Given the description of an element on the screen output the (x, y) to click on. 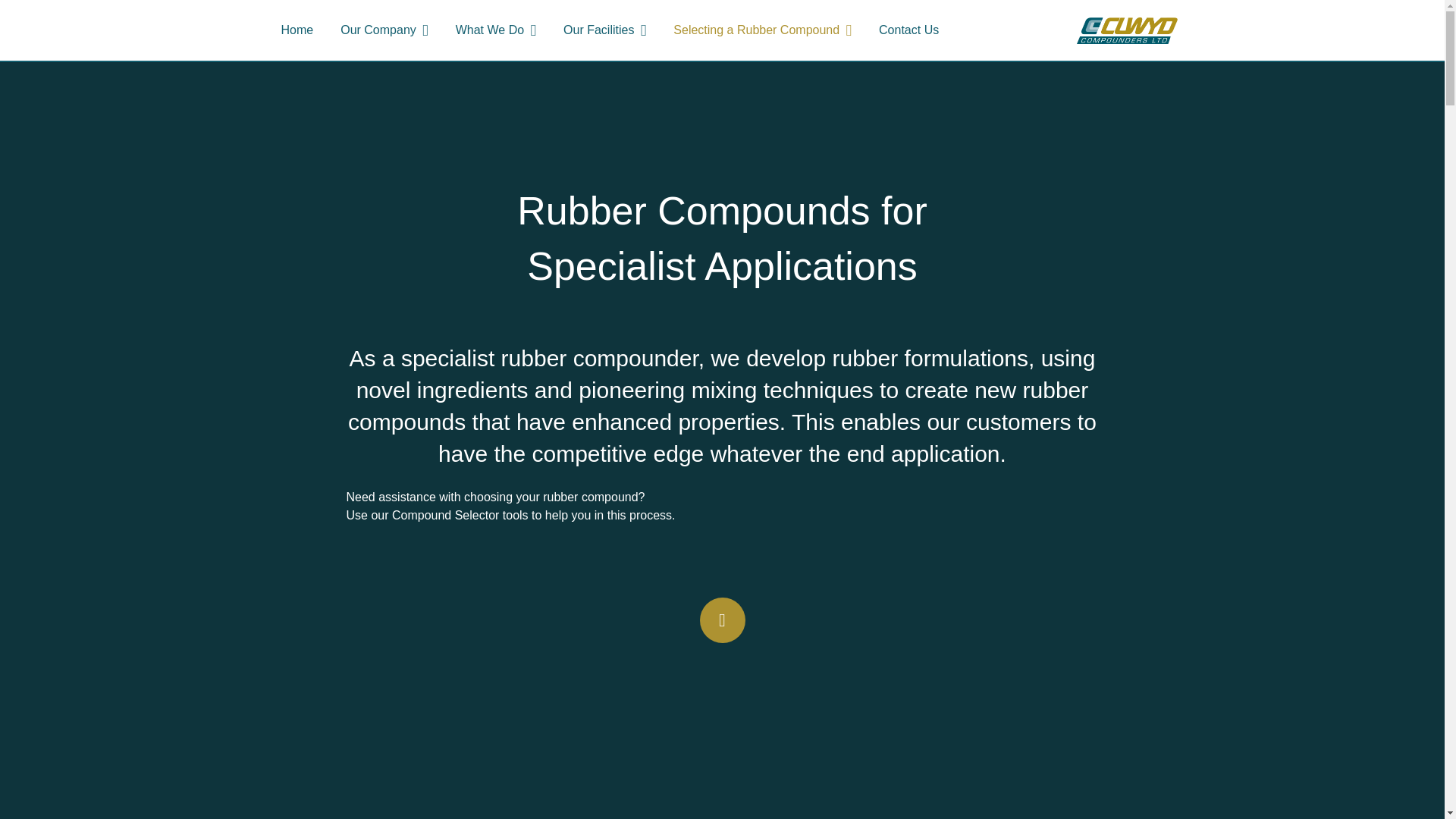
Our Company (384, 30)
Home (296, 30)
Our Facilities (604, 30)
Contact Us (908, 30)
Selecting a Rubber Compound (761, 30)
What We Do (496, 30)
